Given the description of an element on the screen output the (x, y) to click on. 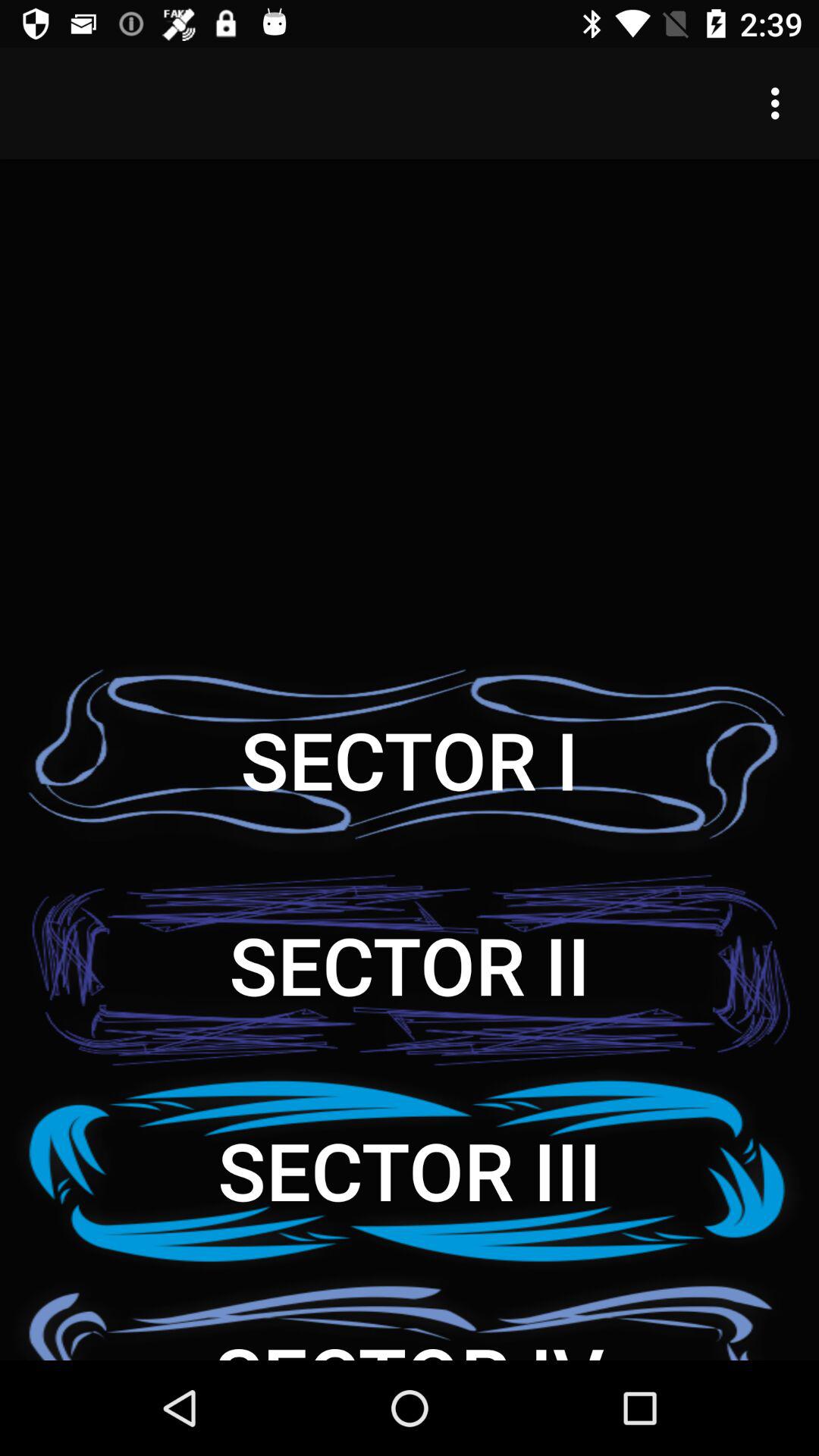
press sector i (409, 759)
